Given the description of an element on the screen output the (x, y) to click on. 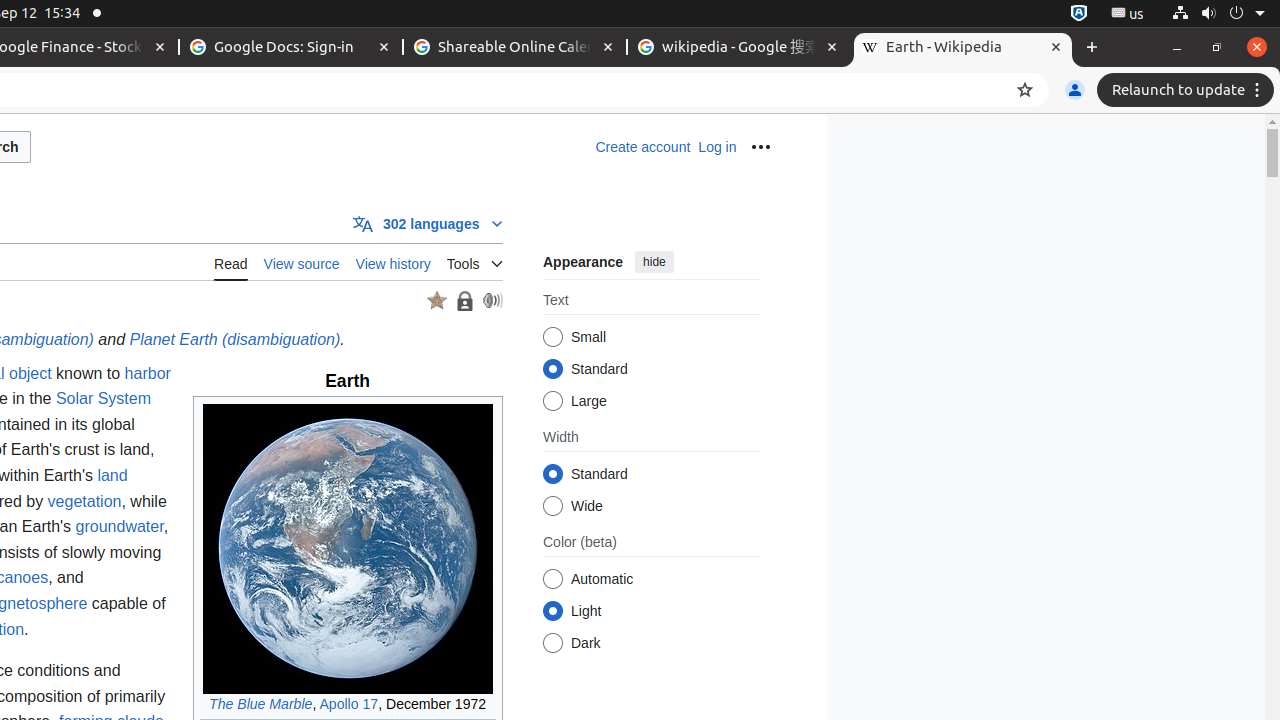
View source Element type: link (301, 262)
Wide Element type: radio-button (552, 506)
Log in Element type: link (717, 147)
Personal tools Element type: push-button (760, 147)
Photograph of Earth taken by the Apollo 17 mission. The Arabian peninsula, Africa and Madagascar lie in the upper half of the disc, whereas Antarctica is at the bottom. The Blue Marble, Apollo 17, December 1972 Element type: table-cell (347, 559)
